Given the description of an element on the screen output the (x, y) to click on. 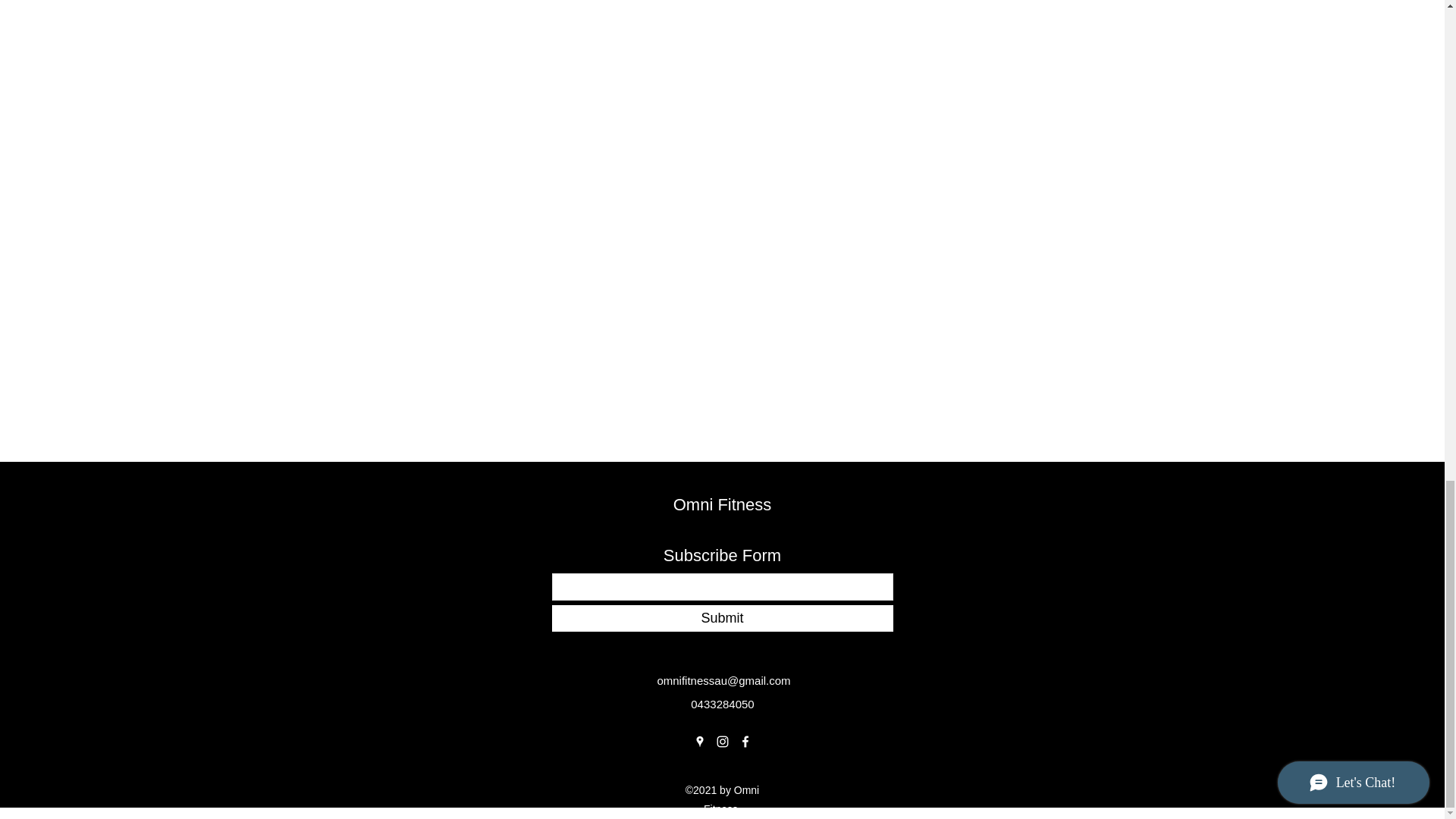
Omni Fitness (721, 504)
Submit (722, 618)
